Given the description of an element on the screen output the (x, y) to click on. 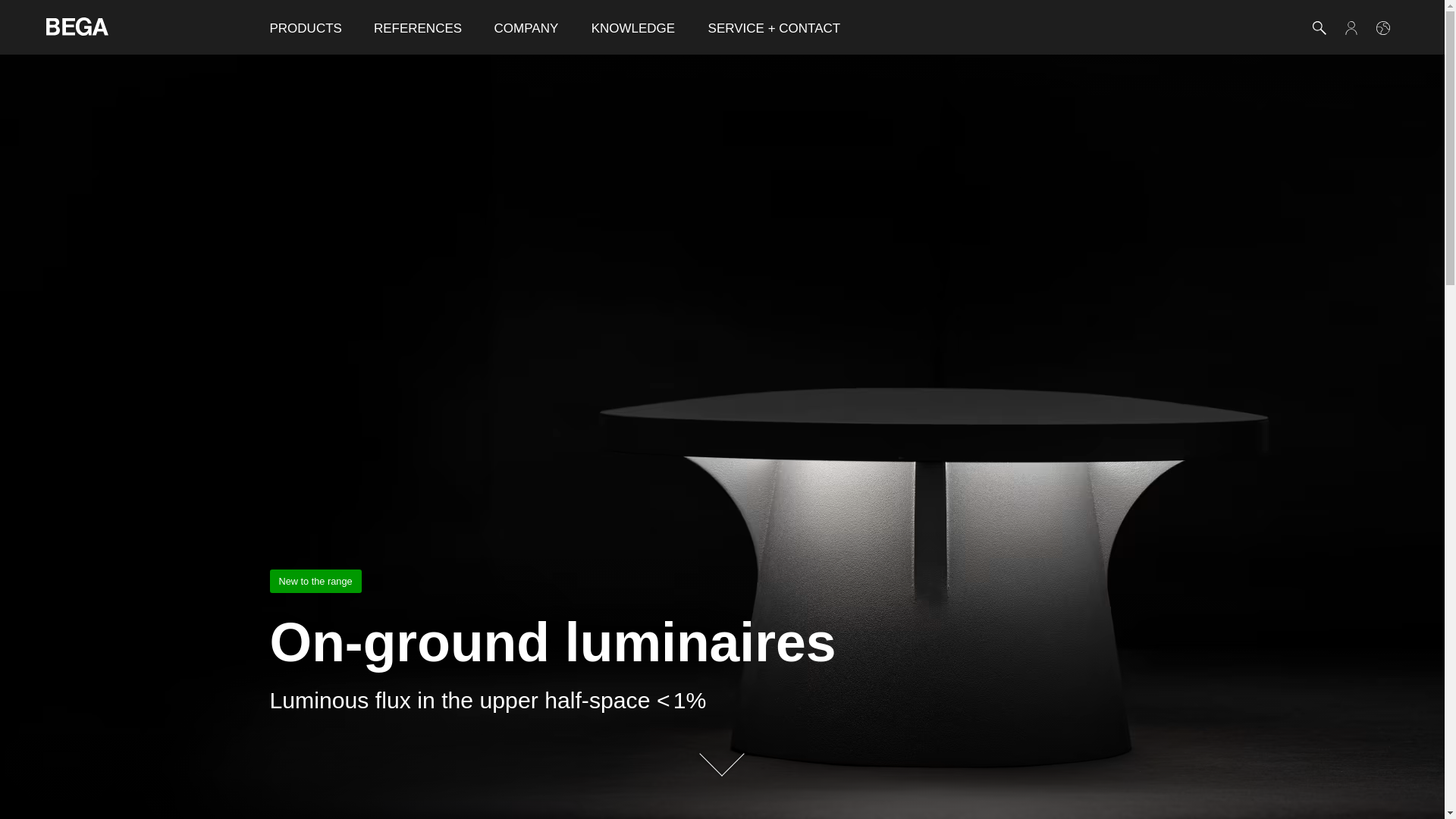
PRODUCTS (304, 27)
REFERENCES (417, 27)
Company (526, 27)
KNOWLEDGE (633, 27)
Products (304, 27)
COMPANY (526, 27)
Knowledge (633, 27)
References (417, 27)
